Given the description of an element on the screen output the (x, y) to click on. 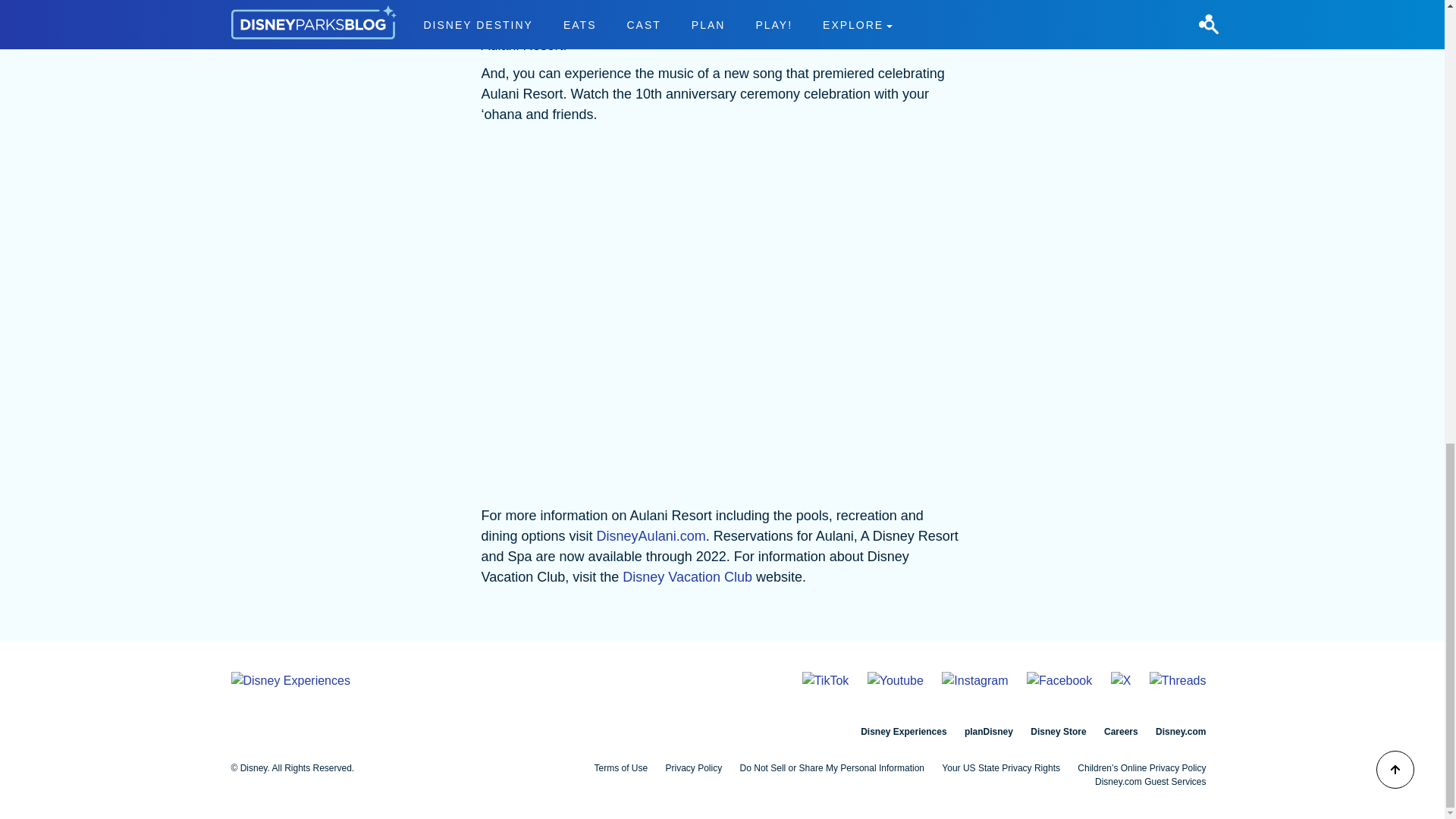
Disney Vacation Club (687, 576)
DisneyAulani.com (651, 535)
Disney Experiences (903, 731)
